Given the description of an element on the screen output the (x, y) to click on. 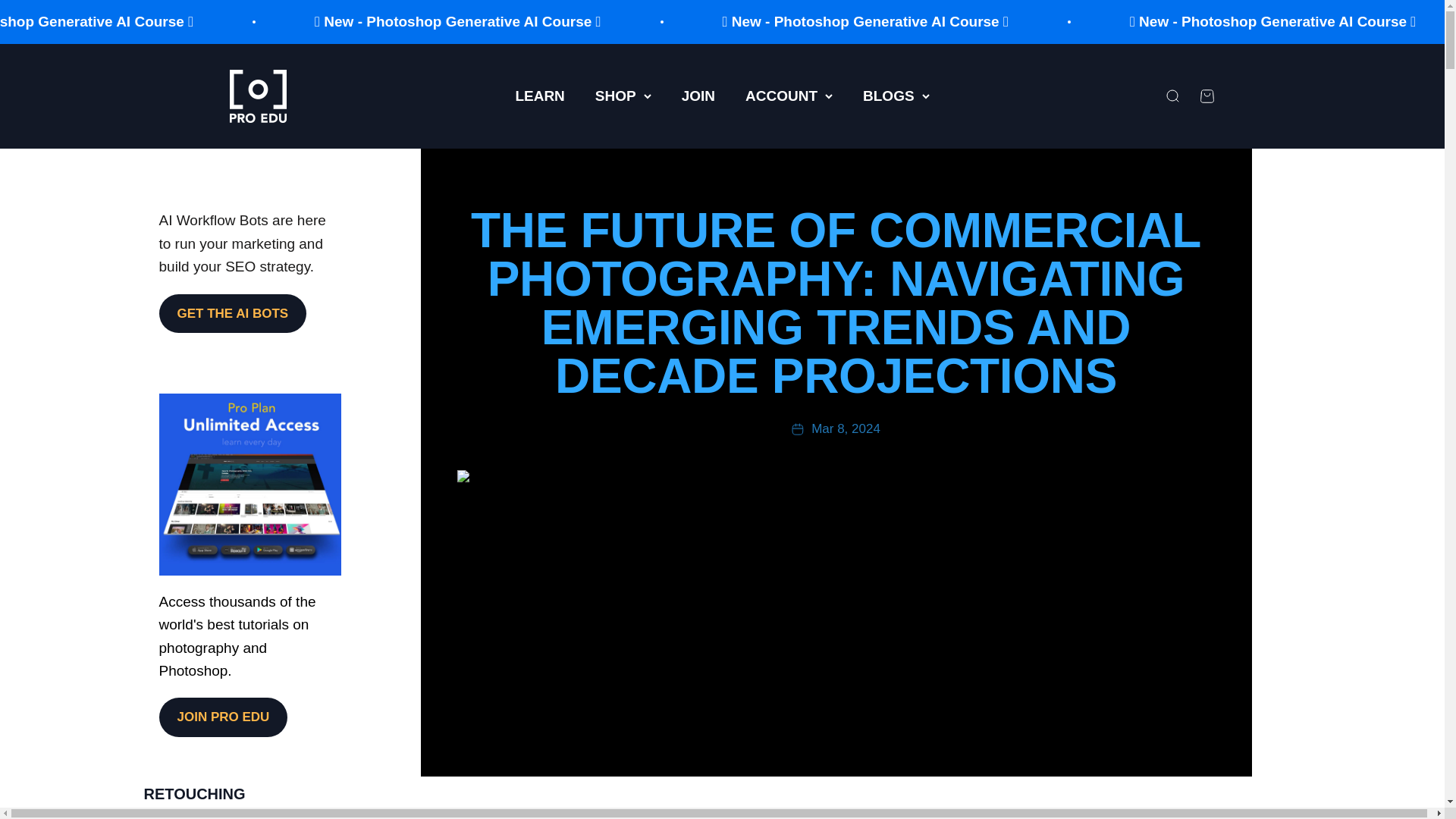
LEARN (539, 95)
PRO EDU (256, 95)
Open cart (1206, 95)
Open search (1171, 95)
All Tools (170, 813)
JOIN (697, 95)
